Given the description of an element on the screen output the (x, y) to click on. 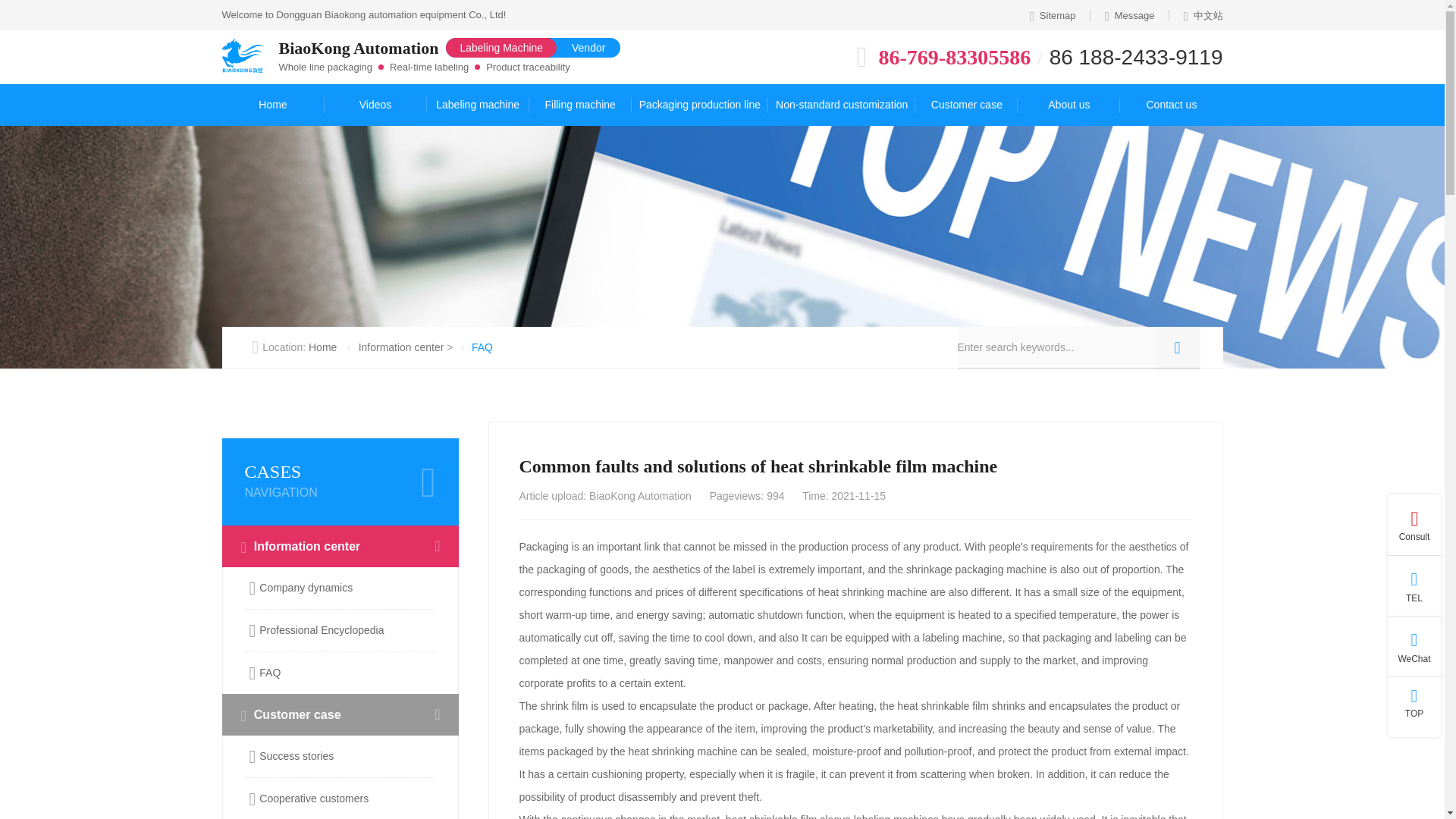
86 188-2433-9119 (1136, 56)
Message (1129, 15)
Labeling machine (477, 105)
About us (1068, 105)
Home (272, 105)
Filling machine (580, 105)
Home (272, 105)
Videos (375, 105)
Filling machine (580, 105)
